Given the description of an element on the screen output the (x, y) to click on. 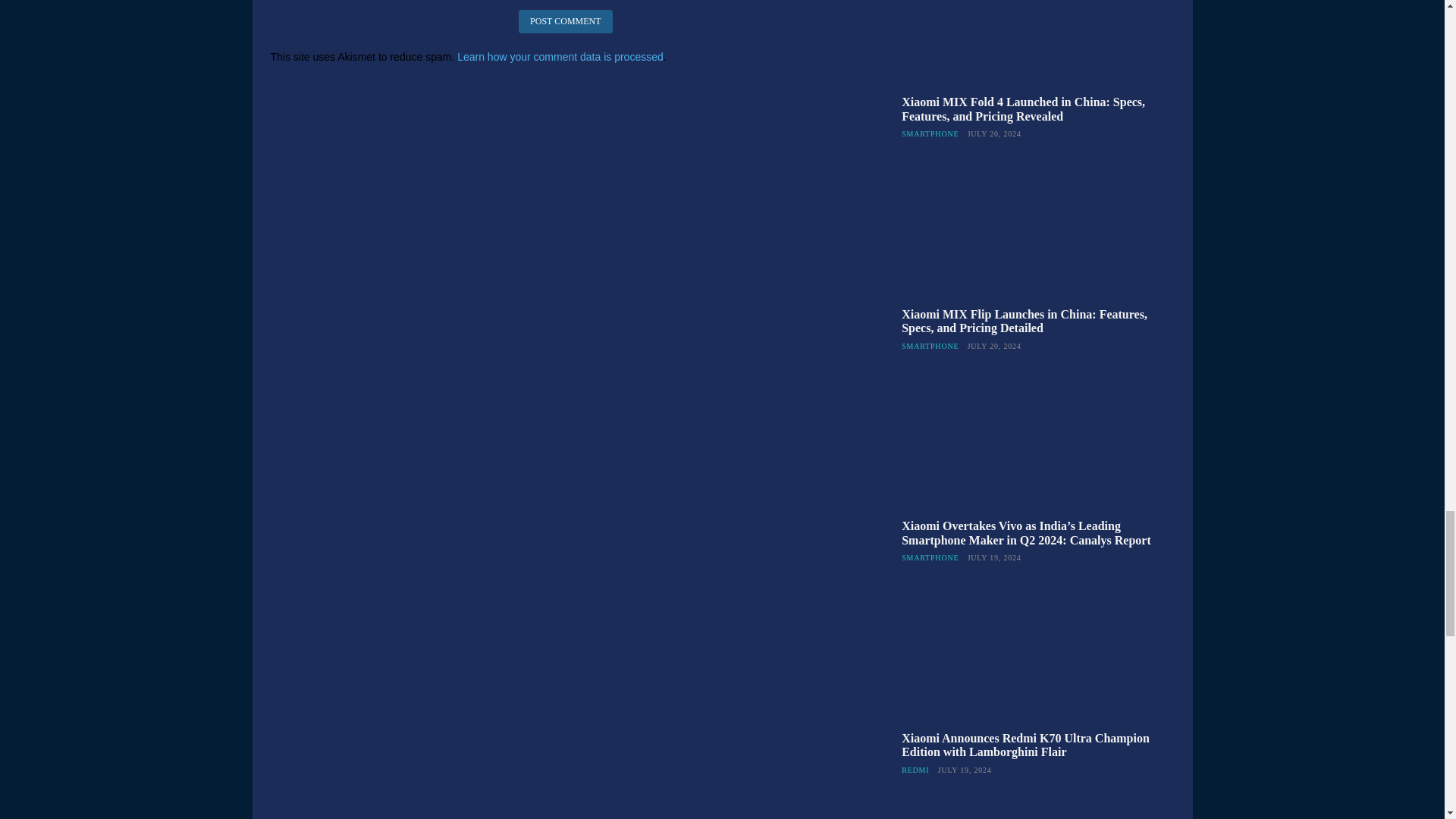
Post Comment (564, 21)
